Given the description of an element on the screen output the (x, y) to click on. 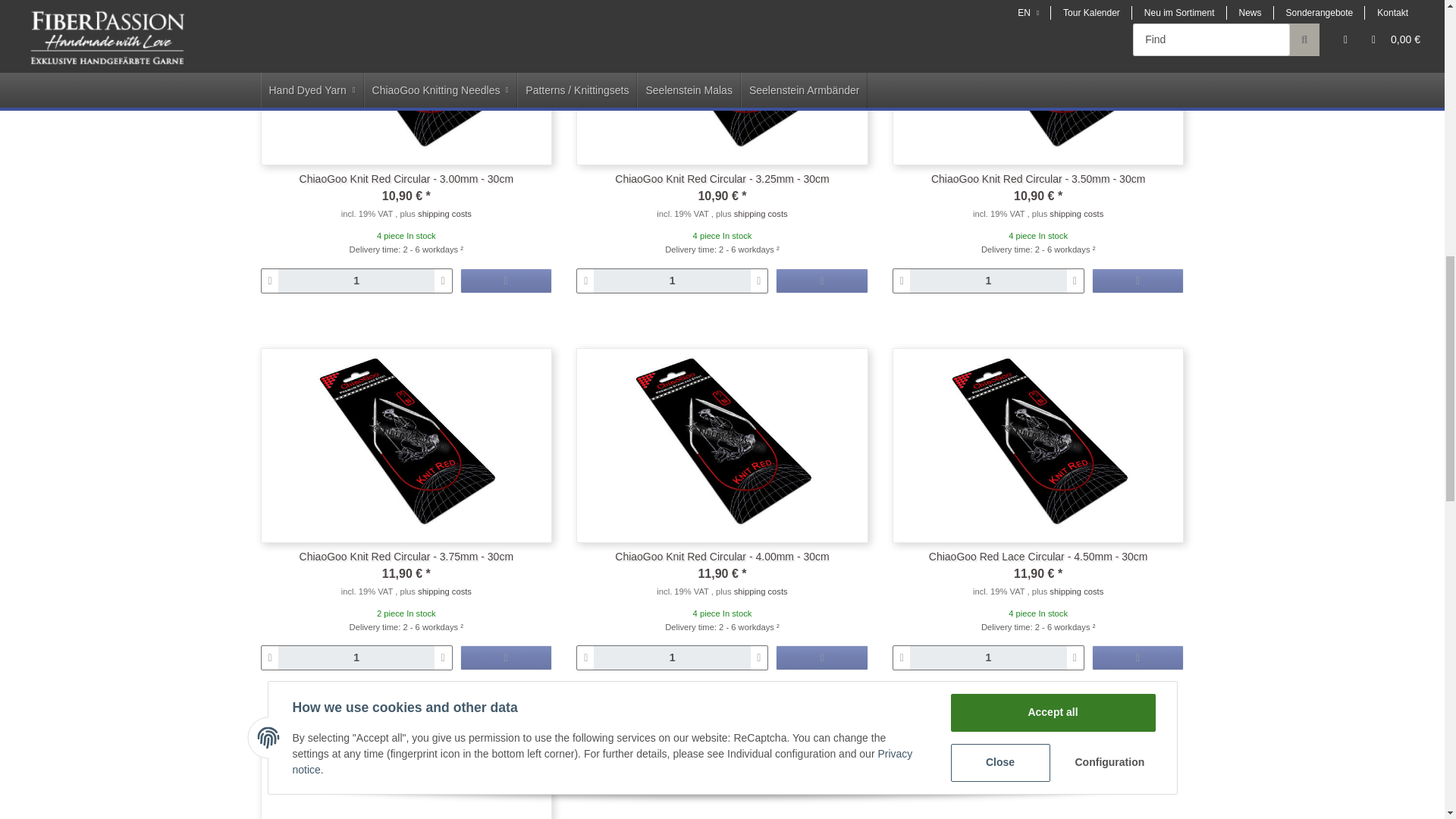
1 (356, 657)
1 (988, 280)
1 (356, 280)
1 (672, 280)
1 (672, 657)
1 (988, 657)
